Given the description of an element on the screen output the (x, y) to click on. 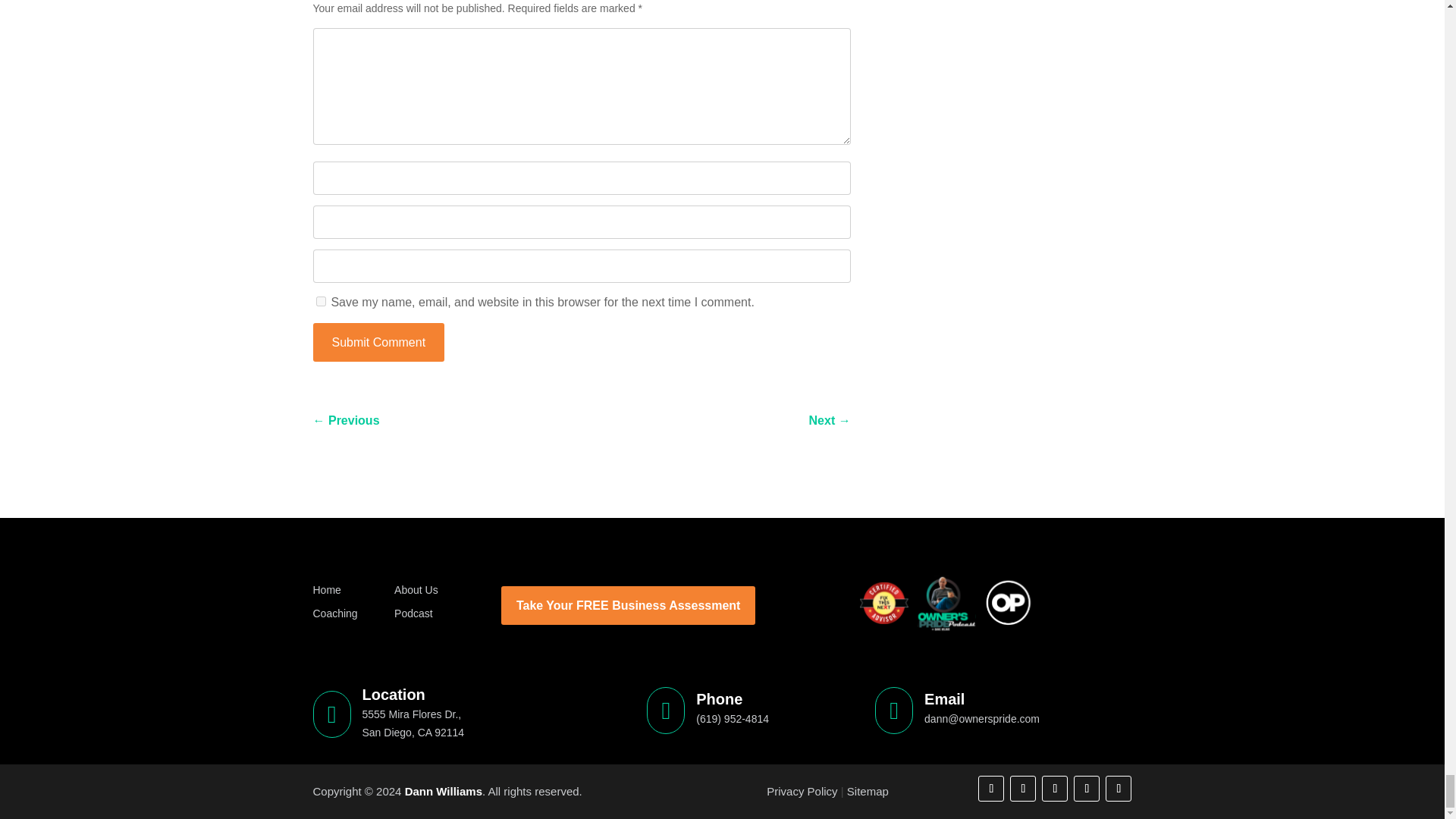
Follow on LinkedIn (1086, 788)
Certified Advisor (884, 602)
Follow on Youtube (1118, 788)
Follow on Facebook (991, 788)
Follow on Instagram (1022, 788)
Follow on X (1054, 788)
Owner's Pride Podcast With Dann E. Williams - Footer Logo (945, 603)
yes (319, 301)
OP (1007, 602)
Submit Comment (378, 341)
